Given the description of an element on the screen output the (x, y) to click on. 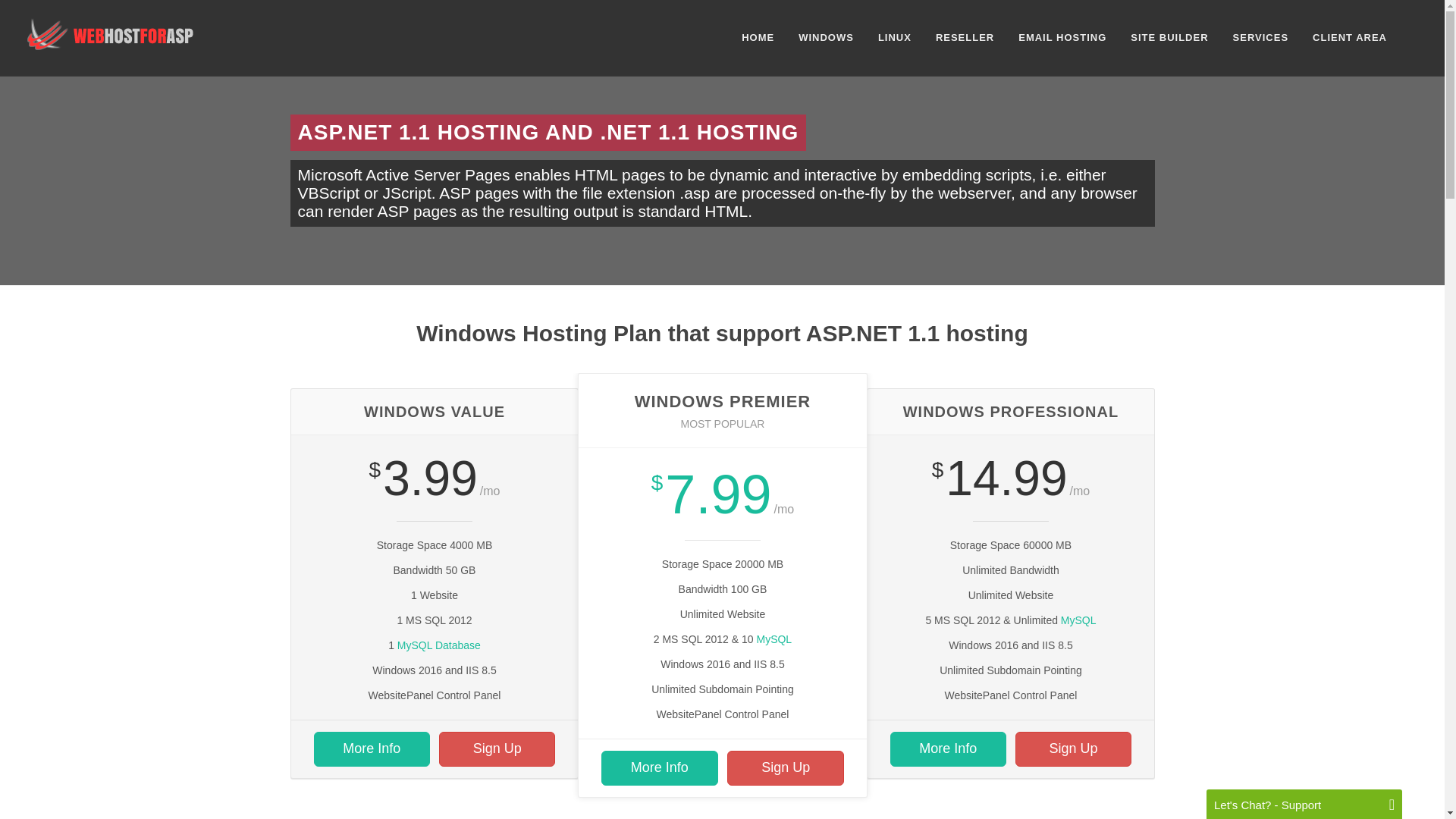
EMAIL HOSTING (1062, 38)
SERVICES (1260, 38)
RESELLER (965, 38)
SITE BUILDER (1169, 38)
CLIENT AREA (1349, 38)
WINDOWS (825, 38)
